Given the description of an element on the screen output the (x, y) to click on. 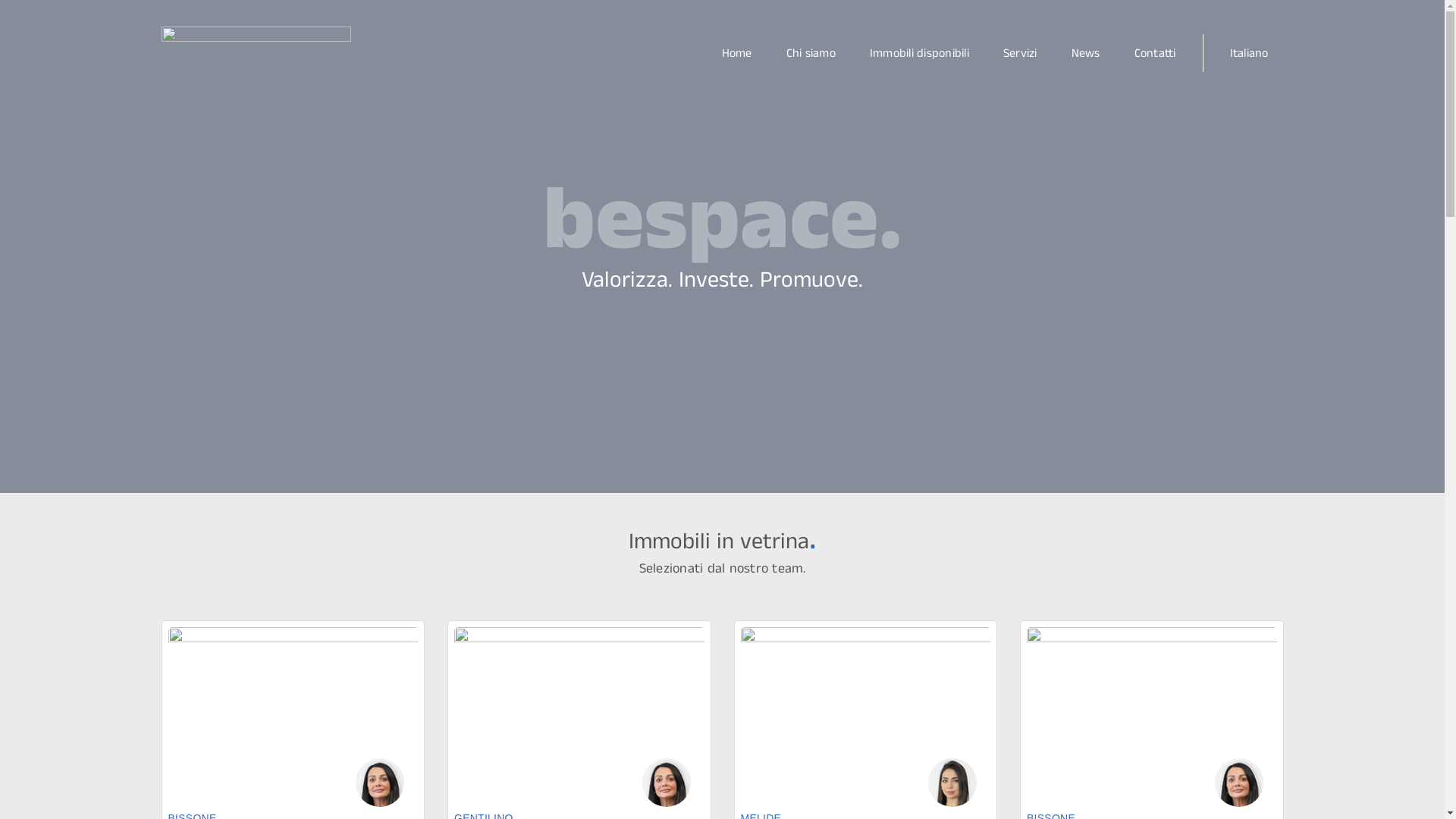
Italiano Element type: text (1248, 53)
Home Element type: text (736, 53)
Immobili disponibili Element type: text (919, 53)
News Element type: text (1084, 53)
Chi siamo Element type: text (810, 53)
Servizi Element type: text (1020, 53)
Contatti Element type: text (1161, 53)
